Given the description of an element on the screen output the (x, y) to click on. 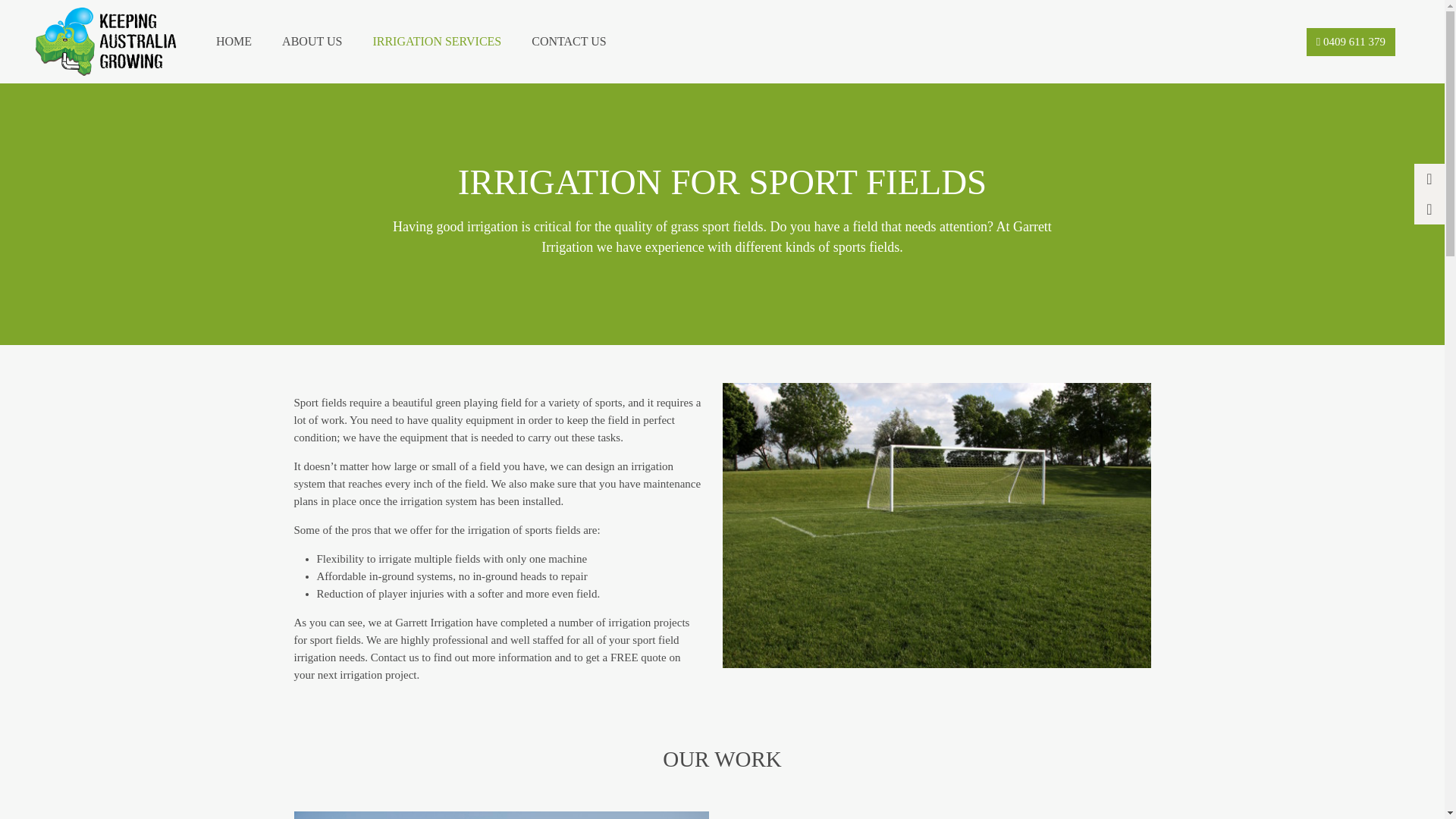
HOME Element type: text (233, 41)
CONTACT US Element type: text (568, 41)
ABOUT US Element type: text (311, 41)
IRRIGATION SERVICES Element type: text (436, 41)
